Given the description of an element on the screen output the (x, y) to click on. 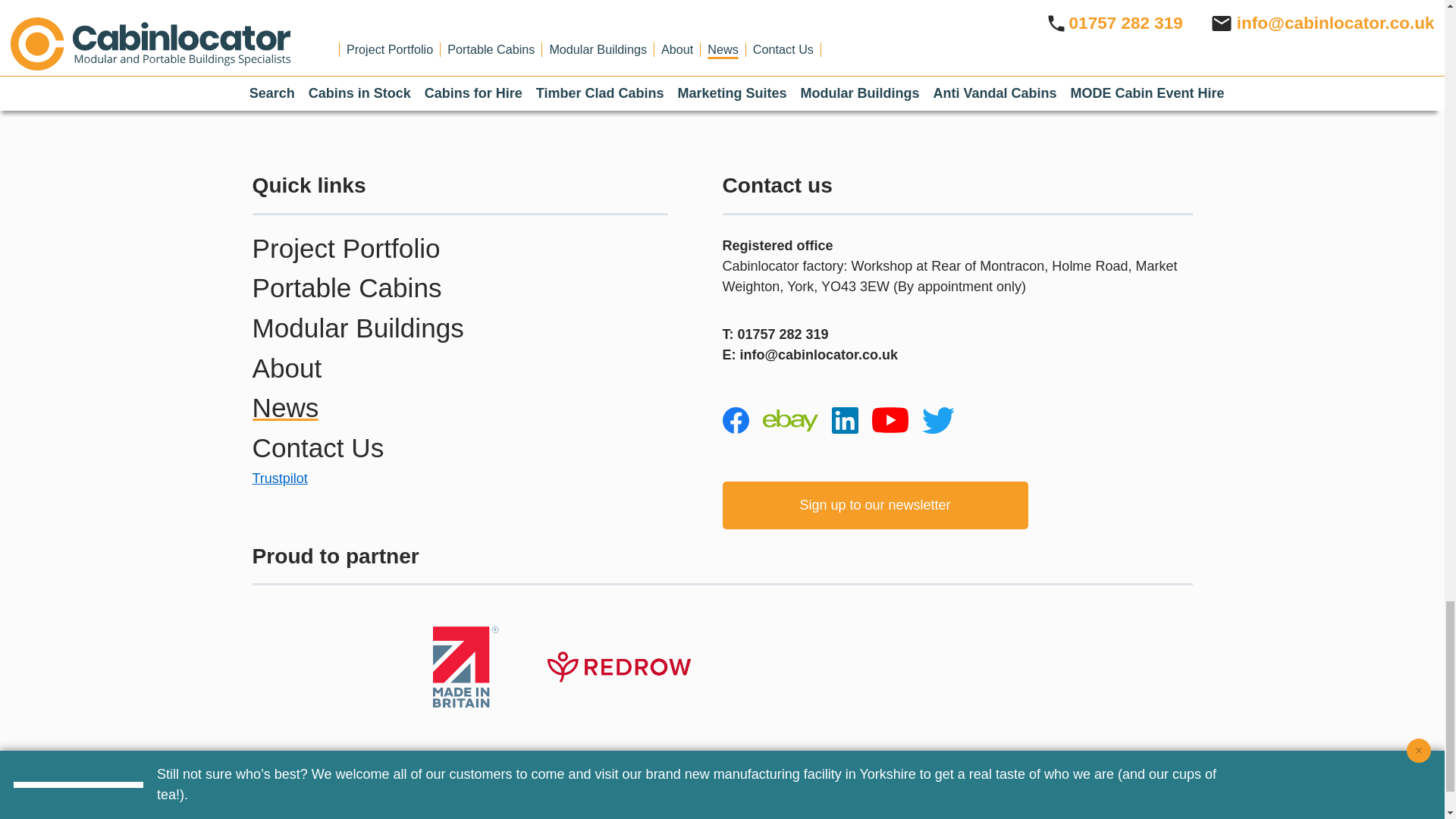
LinkedIn icon (844, 420)
YouTube icon (890, 420)
Facebook icon (735, 420)
eBay icon (790, 420)
Twitter icon (938, 420)
